Given the description of an element on the screen output the (x, y) to click on. 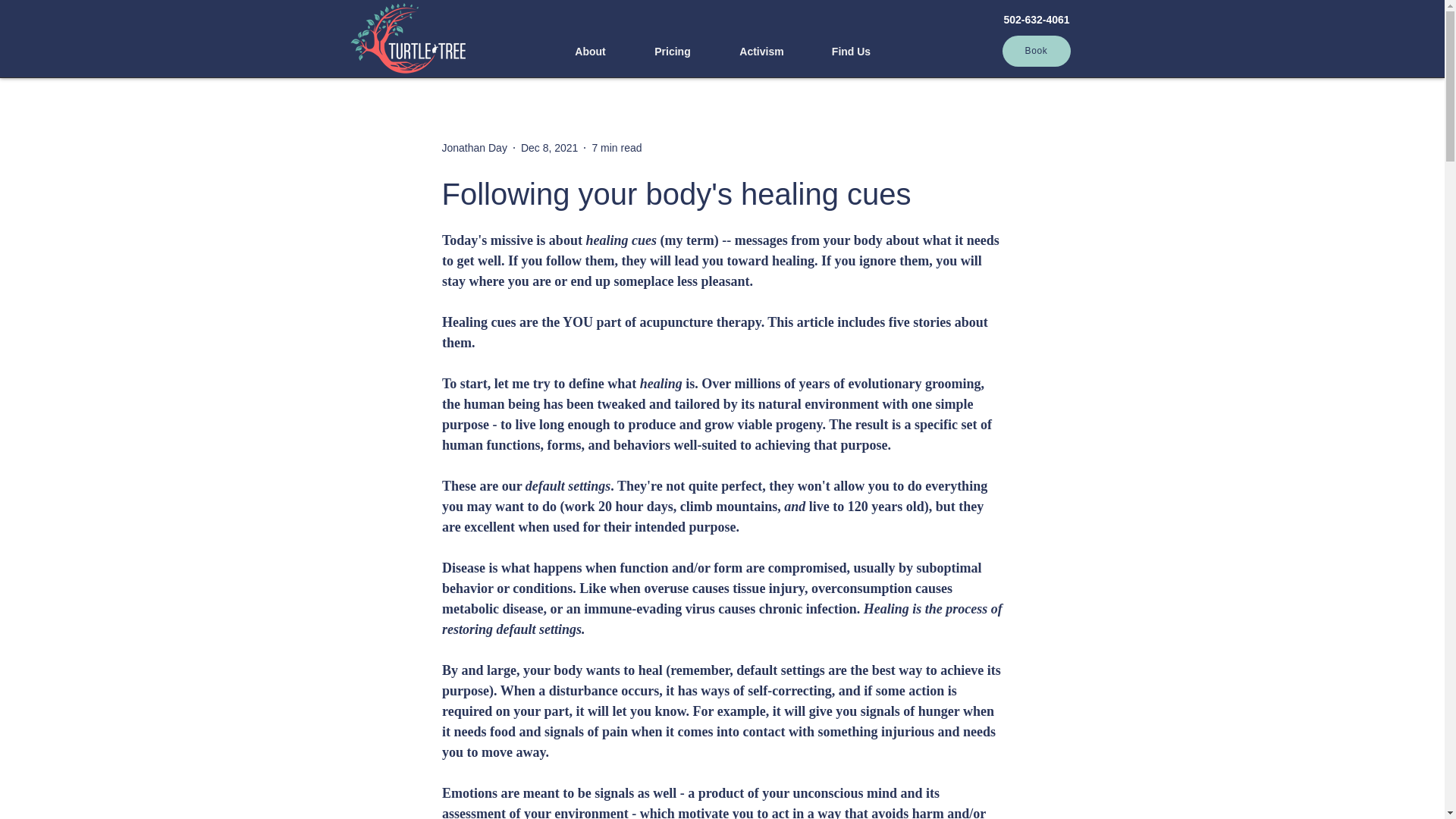
Jonathan Day (473, 147)
Book (1036, 51)
Pricing (672, 51)
Dec 8, 2021 (549, 146)
7 min read (616, 146)
Activism (761, 51)
Jonathan Day (473, 147)
About (590, 51)
Find Us (850, 51)
